Given the description of an element on the screen output the (x, y) to click on. 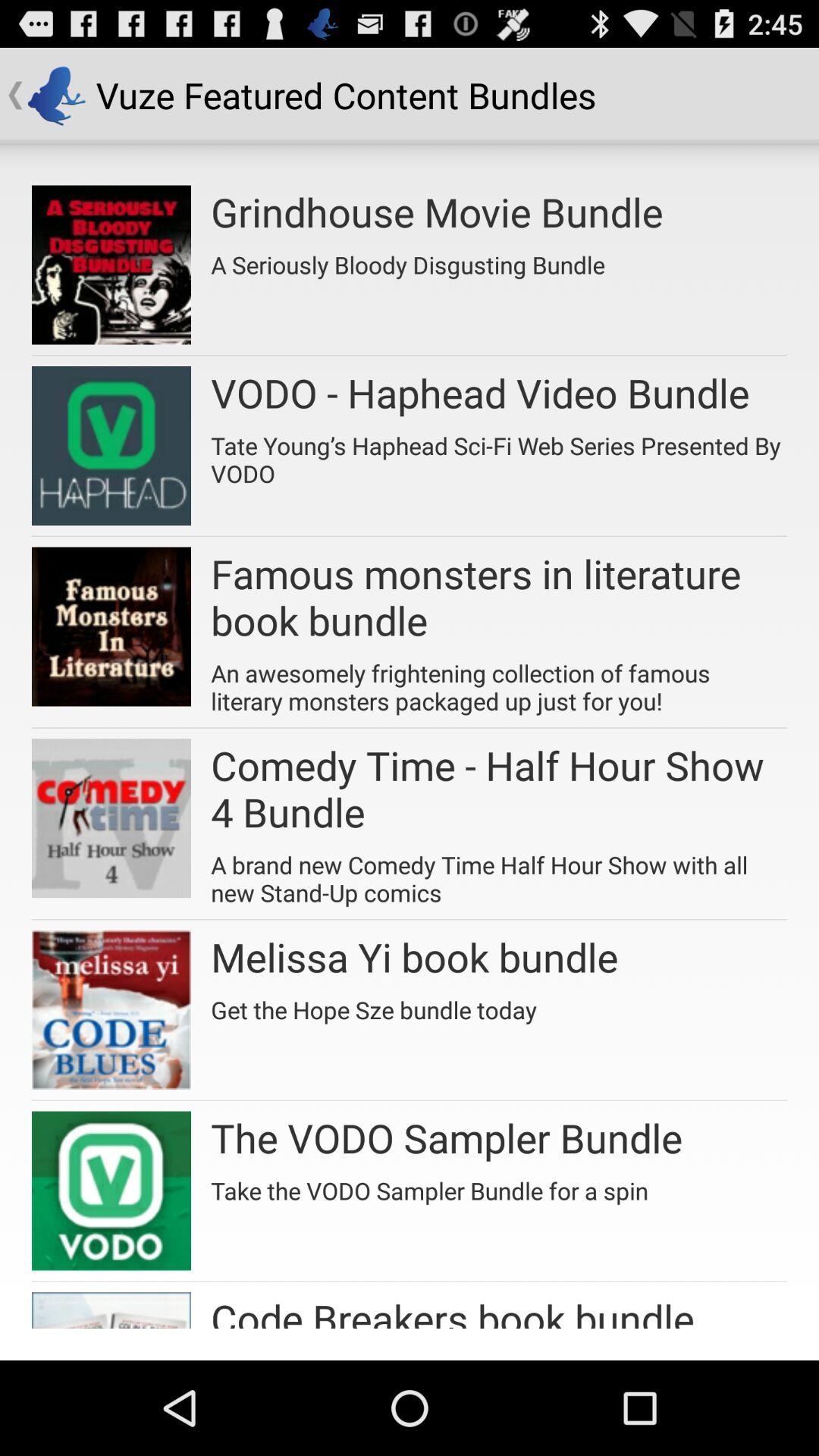
tap the tate young s icon (499, 454)
